Given the description of an element on the screen output the (x, y) to click on. 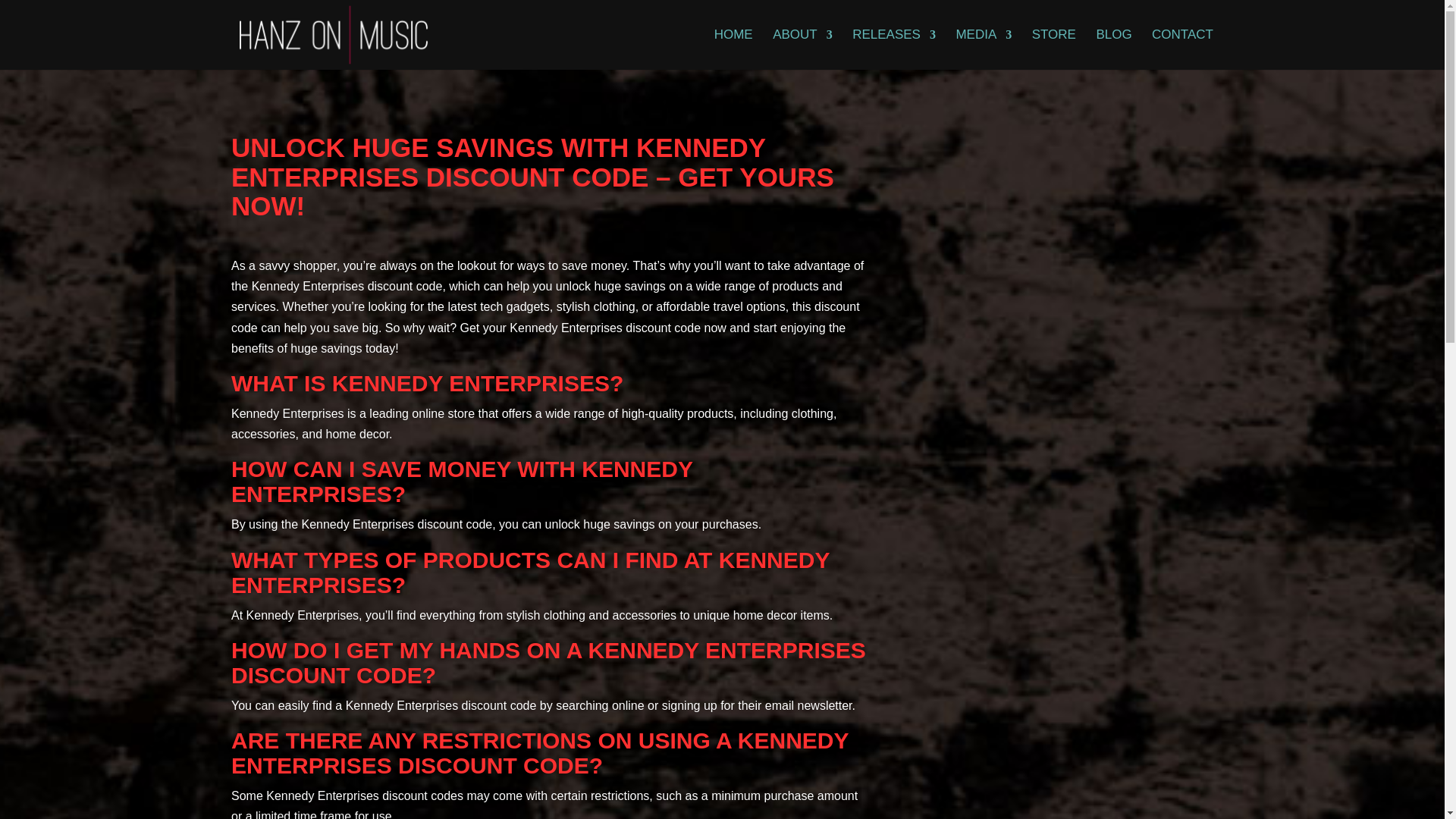
HOME (733, 49)
ABOUT (802, 49)
CONTACT (1181, 49)
STORE (1053, 49)
MEDIA (983, 49)
RELEASES (893, 49)
